Given the description of an element on the screen output the (x, y) to click on. 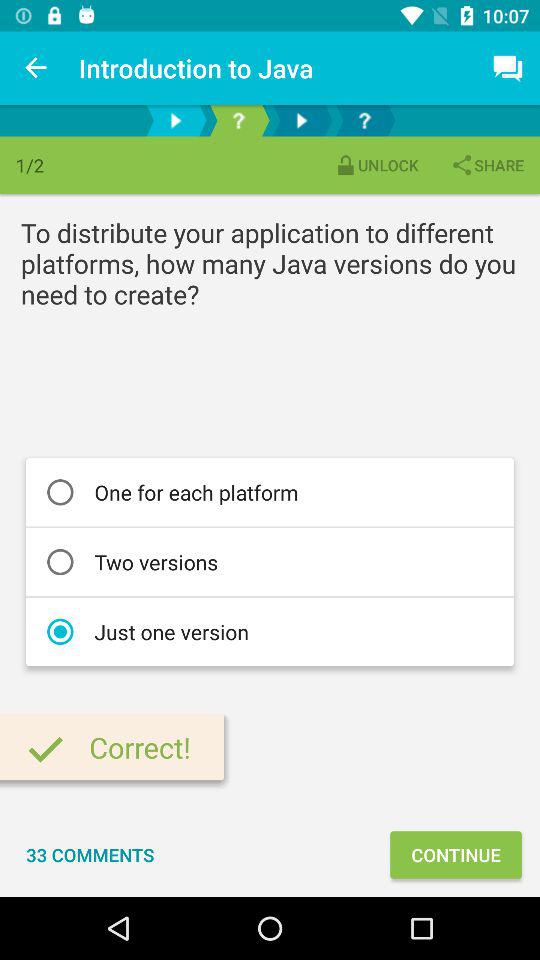
play option (301, 120)
